Given the description of an element on the screen output the (x, y) to click on. 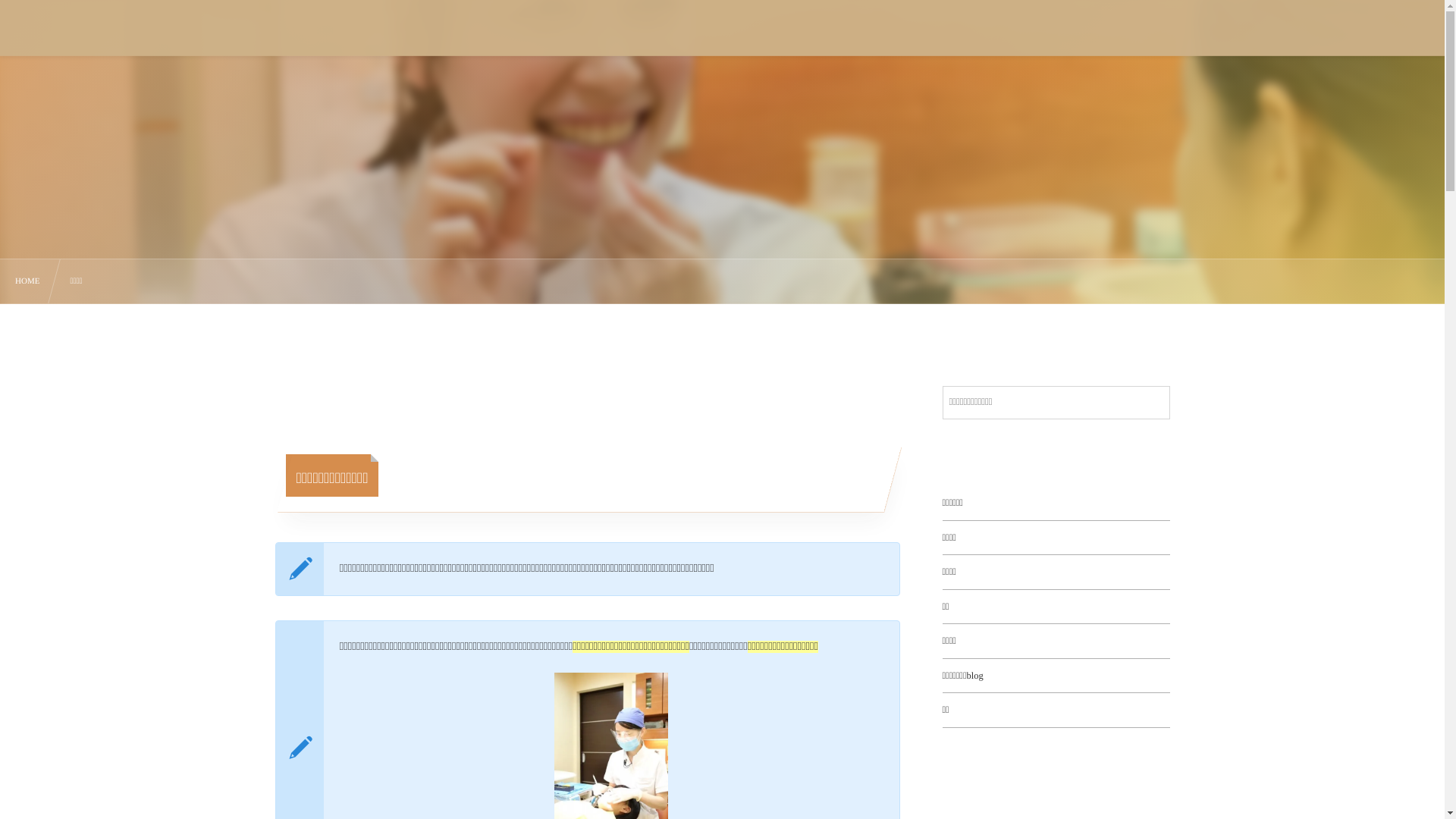
HOME Element type: text (27, 281)
